Given the description of an element on the screen output the (x, y) to click on. 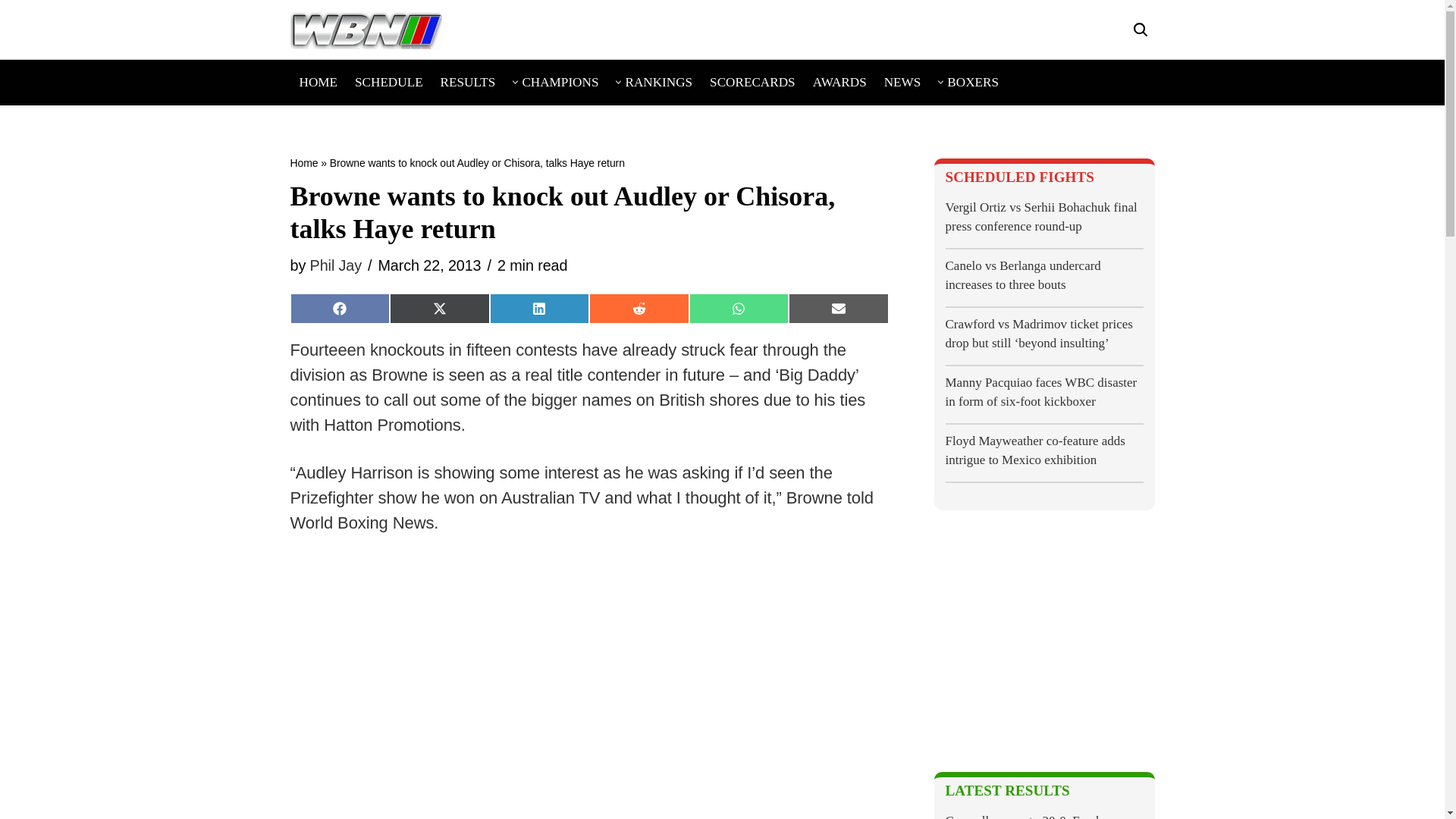
Skip to content (11, 31)
RANKINGS (658, 81)
SCHEDULE (389, 81)
SCORECARDS (752, 81)
RESULTS (468, 81)
BOXERS (972, 81)
CHAMPIONS (559, 81)
NEWS (902, 81)
HOME (317, 81)
Posts by Phil Jay (335, 265)
